Given the description of an element on the screen output the (x, y) to click on. 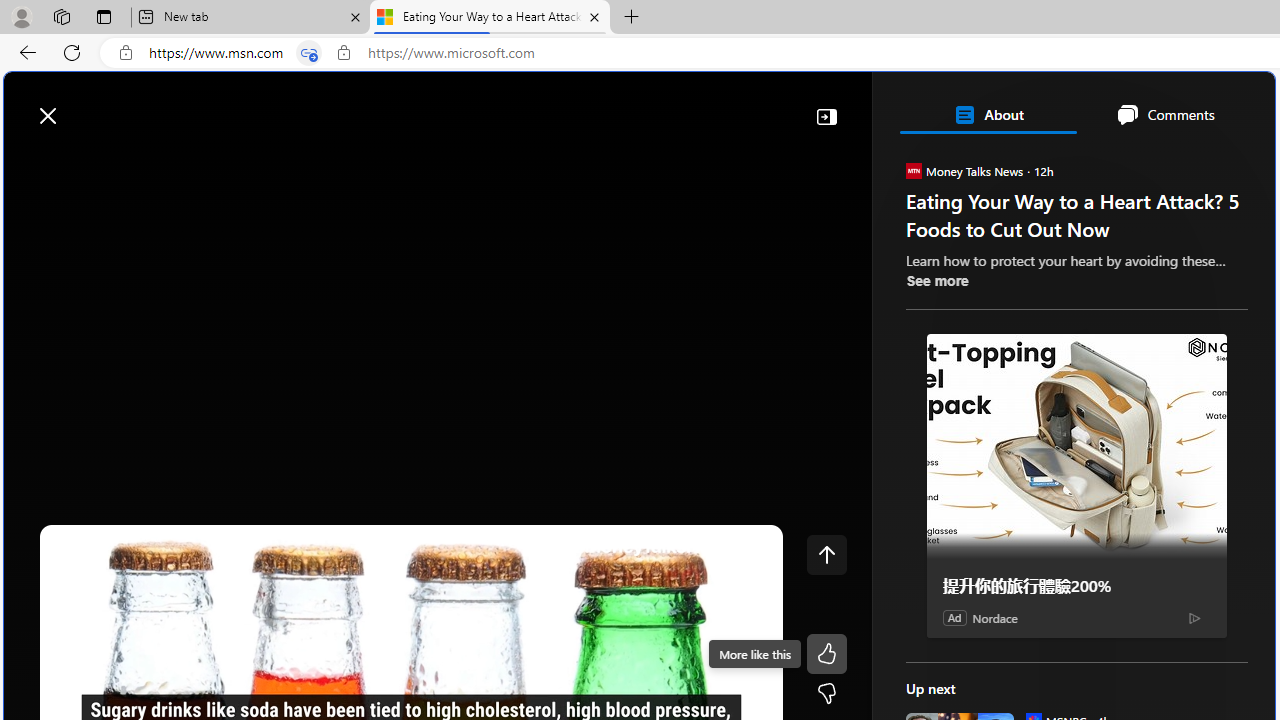
Comments (1165, 114)
Enter your search term (644, 106)
Personalize (1195, 162)
The Associated Press (974, 645)
Tabs in split screen (308, 53)
